Given the description of an element on the screen output the (x, y) to click on. 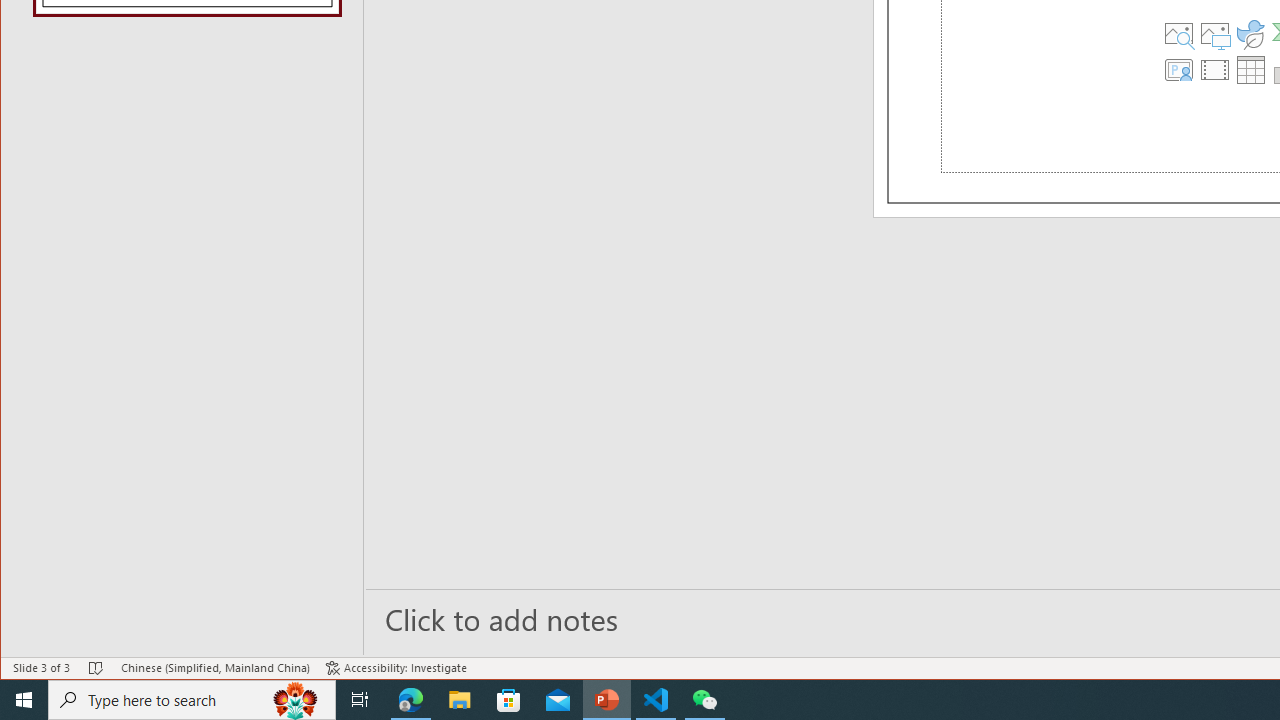
Type here to search (191, 699)
Insert an Icon (1251, 33)
Start (24, 699)
File Explorer (460, 699)
